Given the description of an element on the screen output the (x, y) to click on. 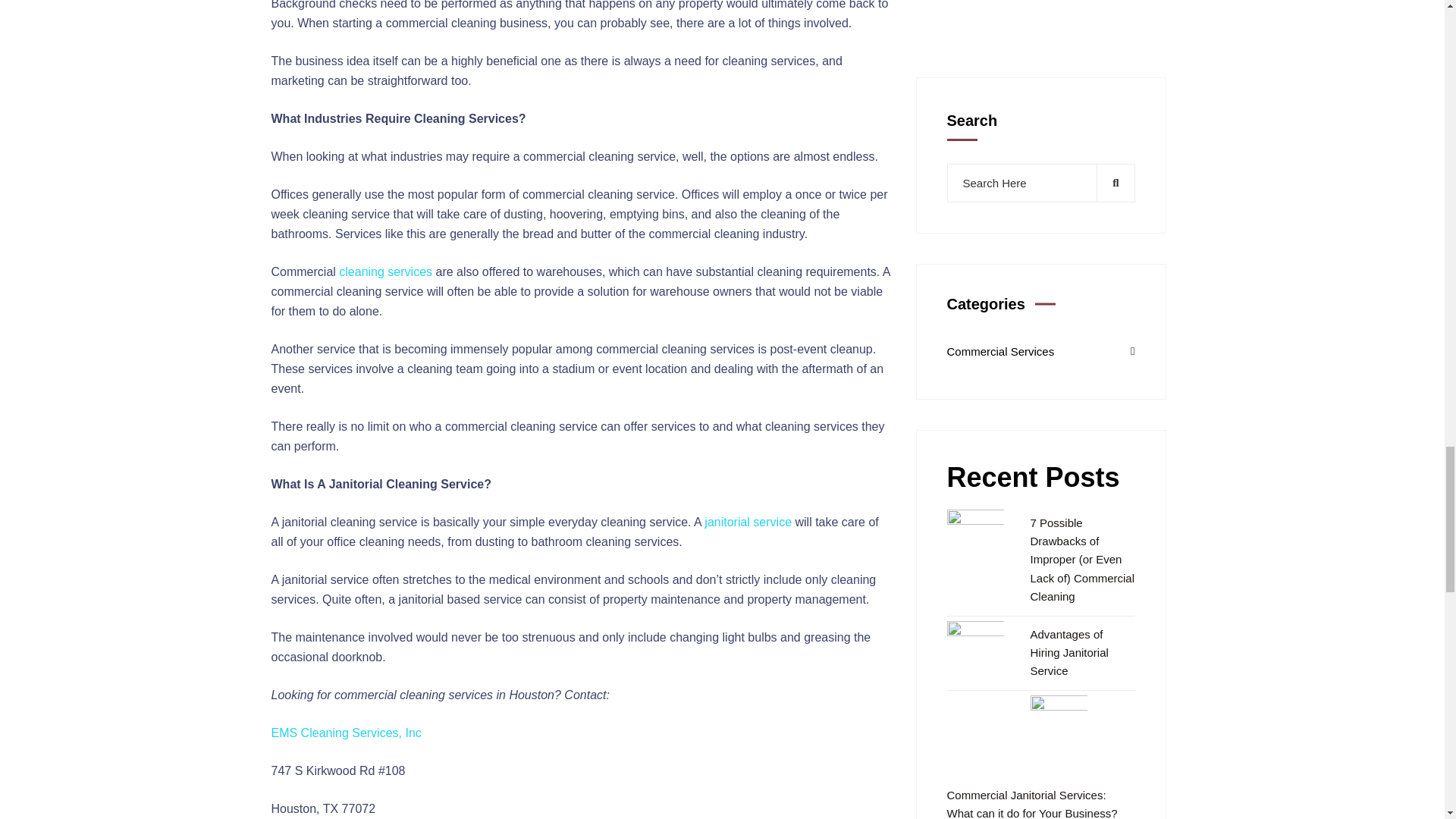
janitorial service (748, 521)
cleaning services (385, 271)
EMS Cleaning Services, Inc (346, 732)
